Given the description of an element on the screen output the (x, y) to click on. 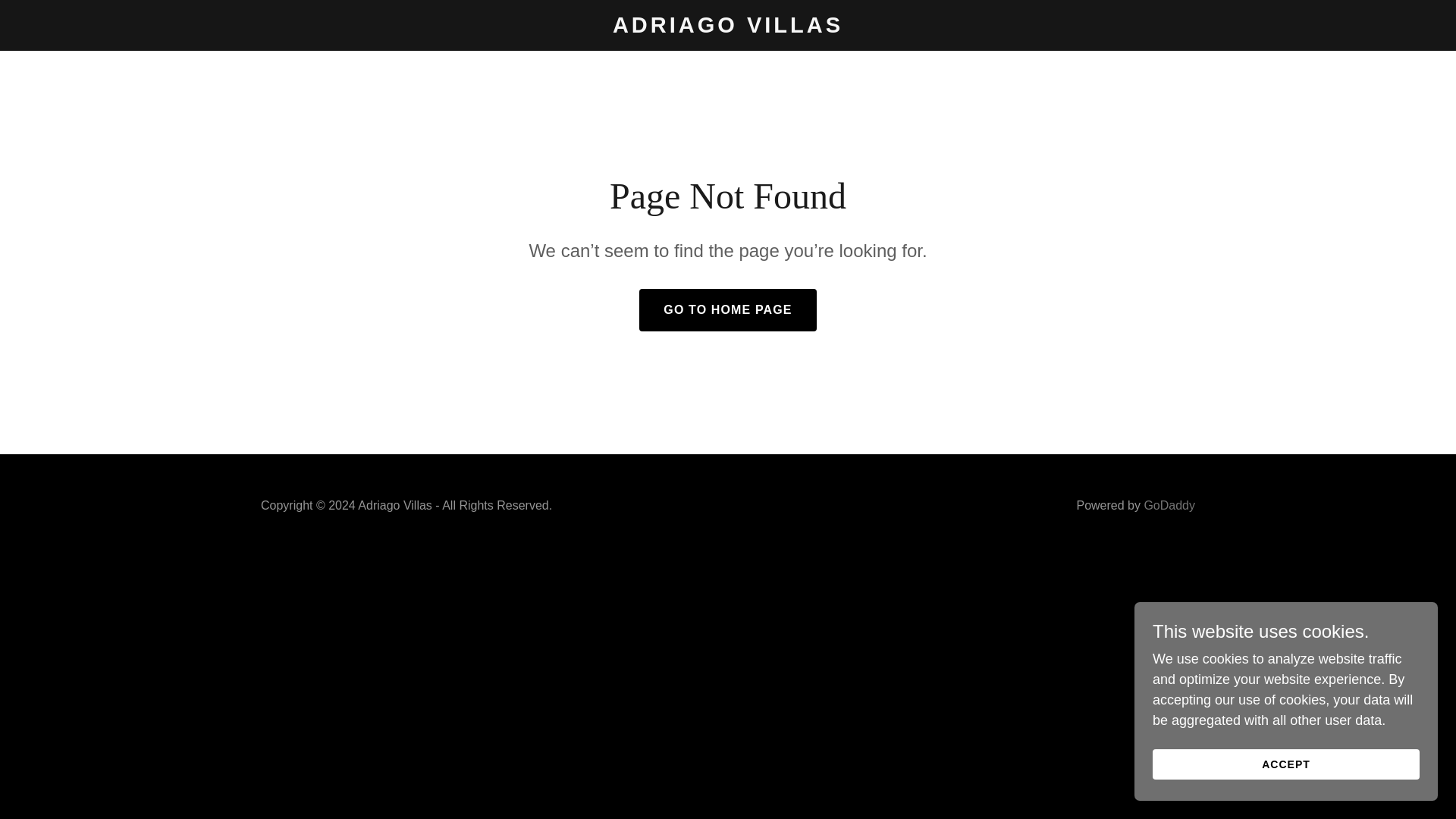
GO TO HOME PAGE (727, 310)
Adriago Villas (727, 28)
GoDaddy (1168, 504)
ADRIAGO VILLAS (727, 28)
ACCEPT (1286, 764)
